Given the description of an element on the screen output the (x, y) to click on. 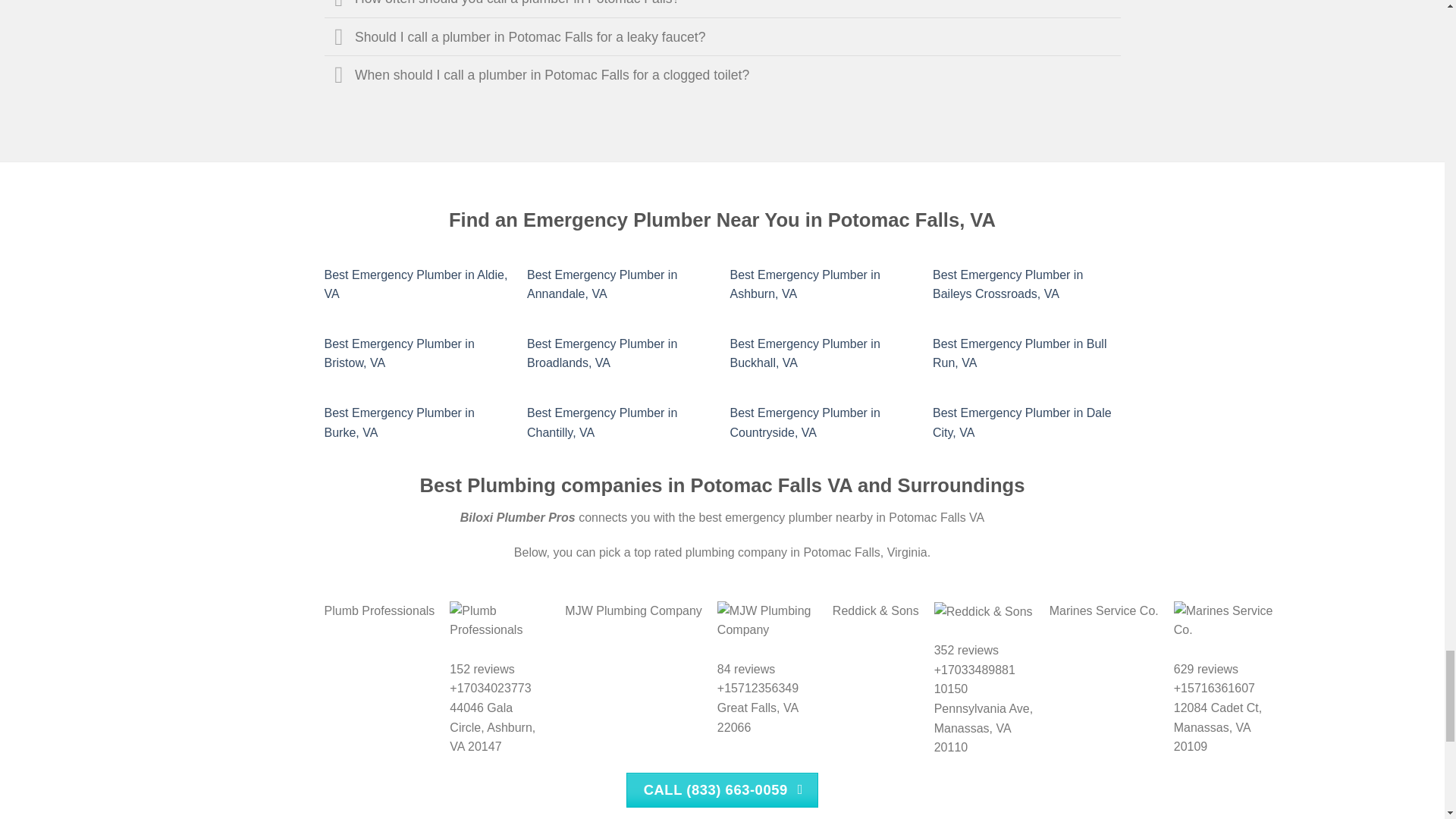
Best Emergency Plumber in Bristow, VA (399, 353)
Best Emergency Plumber in Countryside, VA (804, 422)
Best Emergency Plumber in Burke, VA (399, 422)
How often should you call a plumber in Potomac Falls? (722, 8)
Best Emergency Plumber in Dale City, VA (1022, 422)
Best Emergency Plumber in Bull Run, VA (1019, 353)
Best Emergency Plumber in Chantilly, VA (602, 422)
Best Emergency Plumber in Annandale, VA (602, 284)
Best Emergency Plumber in Aldie, VA (416, 284)
